Given the description of an element on the screen output the (x, y) to click on. 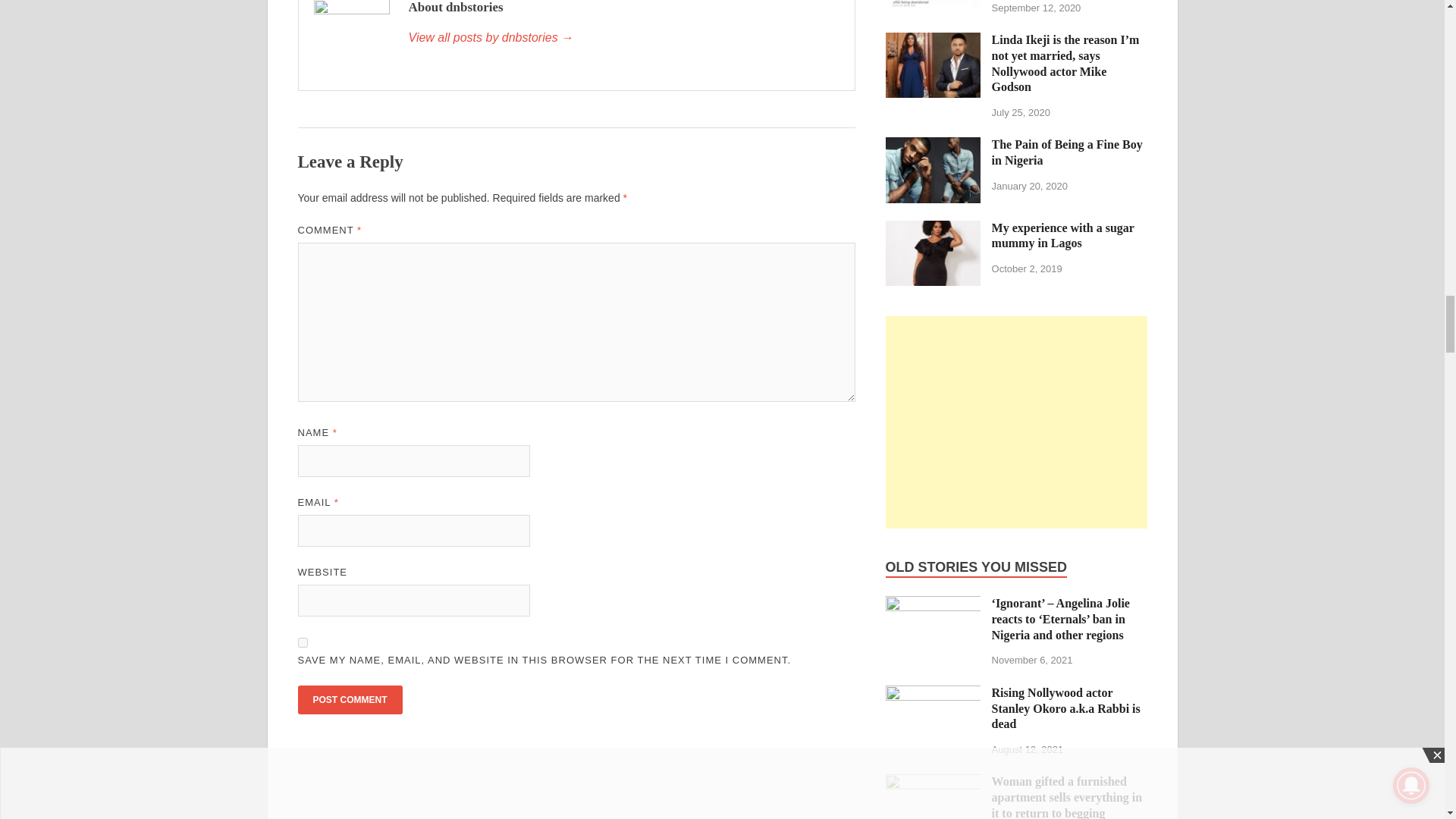
yes (302, 642)
Post Comment (349, 699)
